Given the description of an element on the screen output the (x, y) to click on. 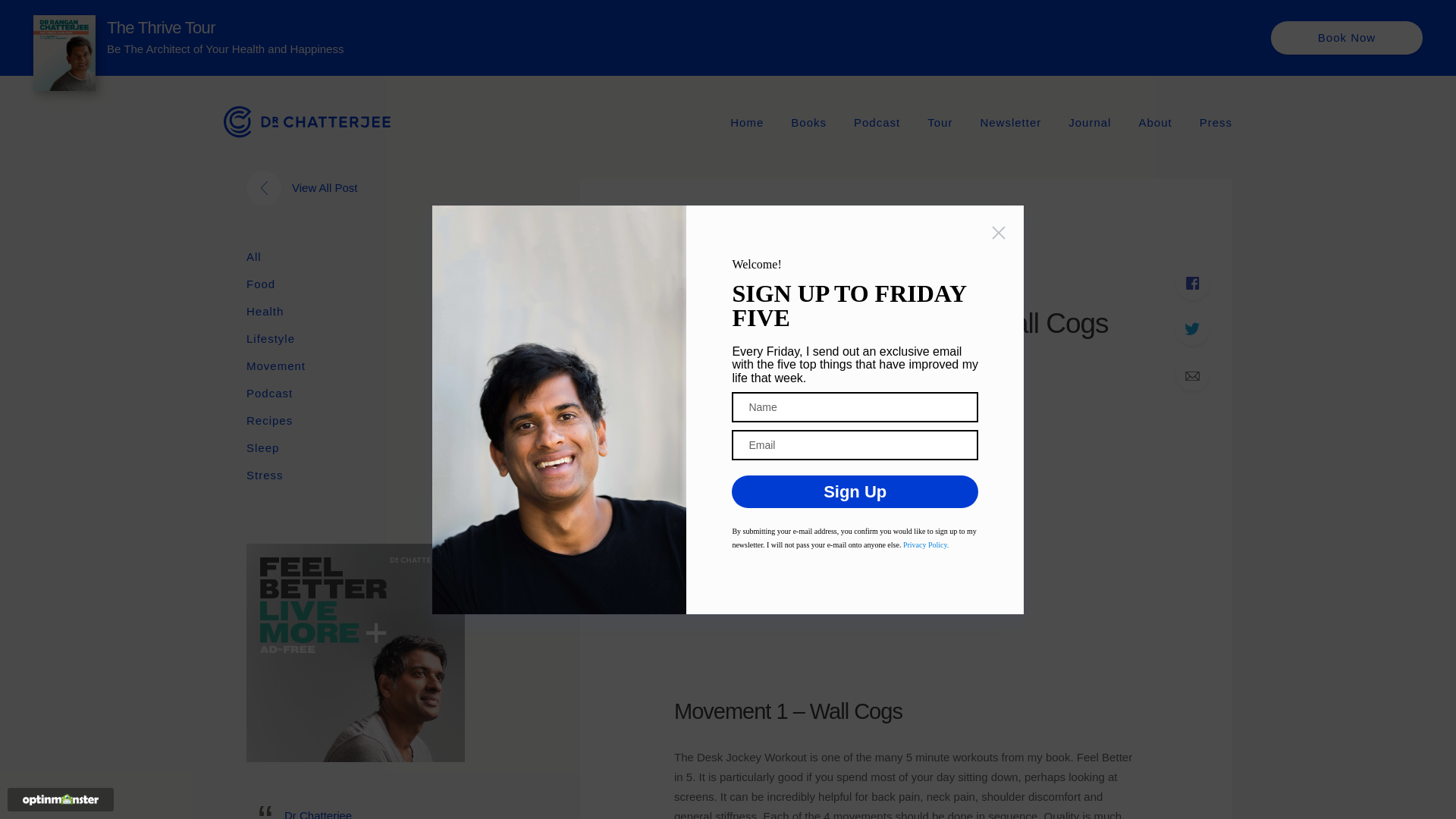
Podcast (876, 121)
Movement (275, 365)
Journal (1089, 121)
Close (998, 233)
Tour (939, 121)
Press (1215, 121)
Newsletter (1010, 121)
Lifestyle (270, 338)
Feel Better Live More Ad-Free (355, 652)
Recipes (269, 420)
Powered by OptinMonster (61, 799)
Food (260, 284)
Podcast (269, 393)
Home (746, 121)
Stress (264, 475)
